Given the description of an element on the screen output the (x, y) to click on. 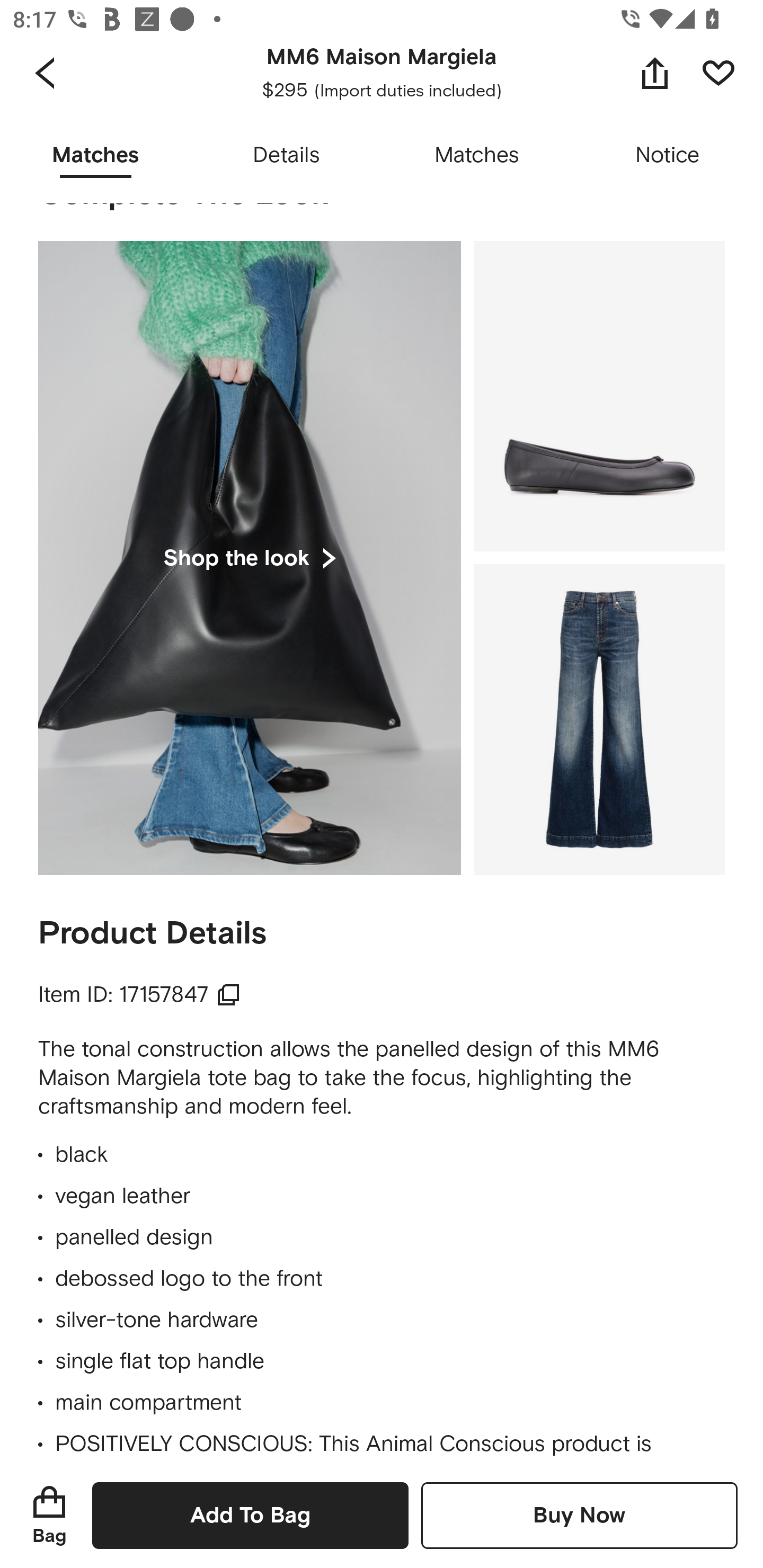
No.1 on the Tote Bags Favourite List (349, 83)
Details (285, 155)
Matches (476, 155)
Notice (667, 155)
Item ID: 17157847 (139, 994)
Bag (49, 1515)
Add To Bag (250, 1515)
Buy Now (579, 1515)
